Given the description of an element on the screen output the (x, y) to click on. 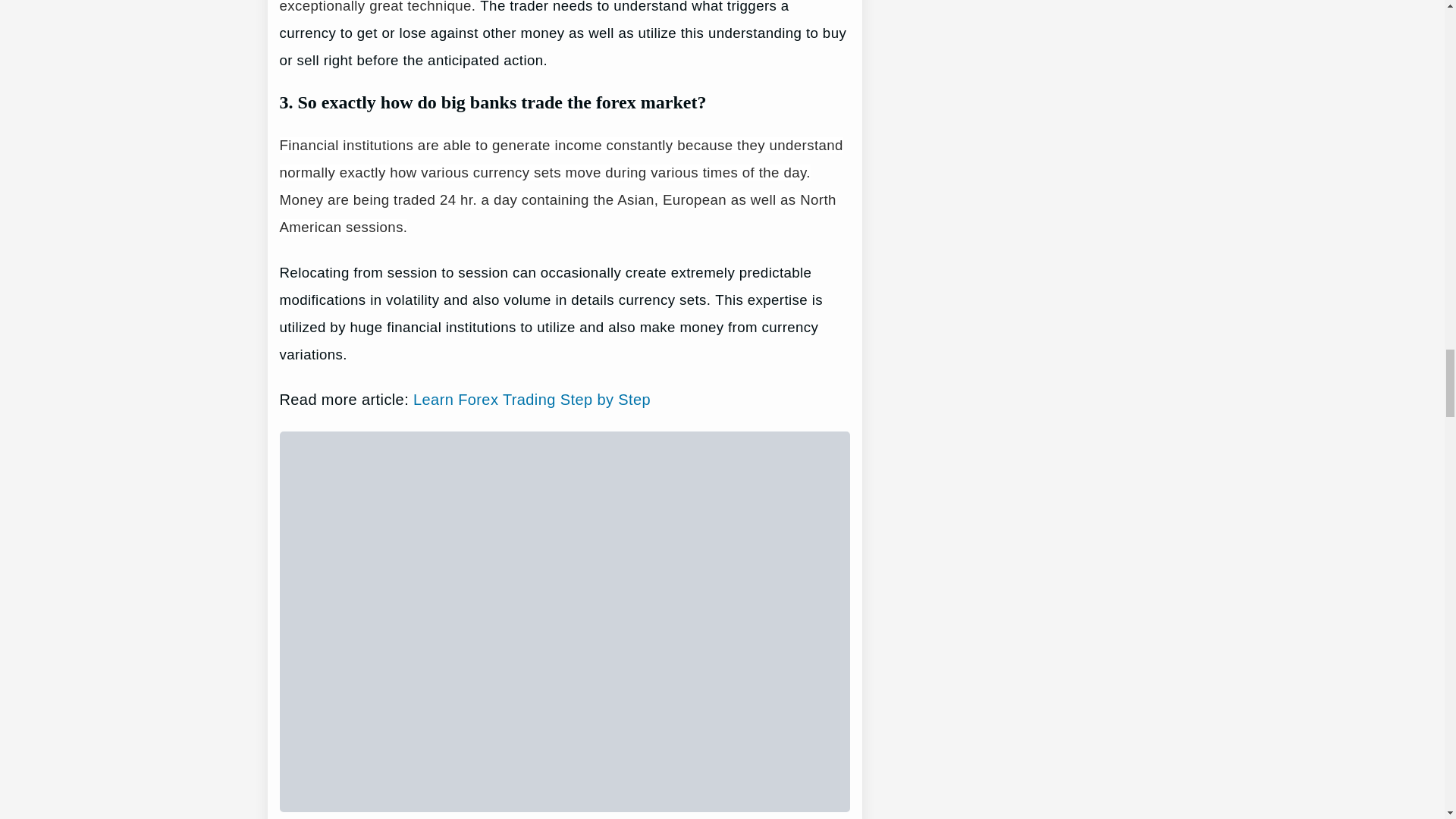
Learn Forex Trading Step by Step (531, 399)
